Given the description of an element on the screen output the (x, y) to click on. 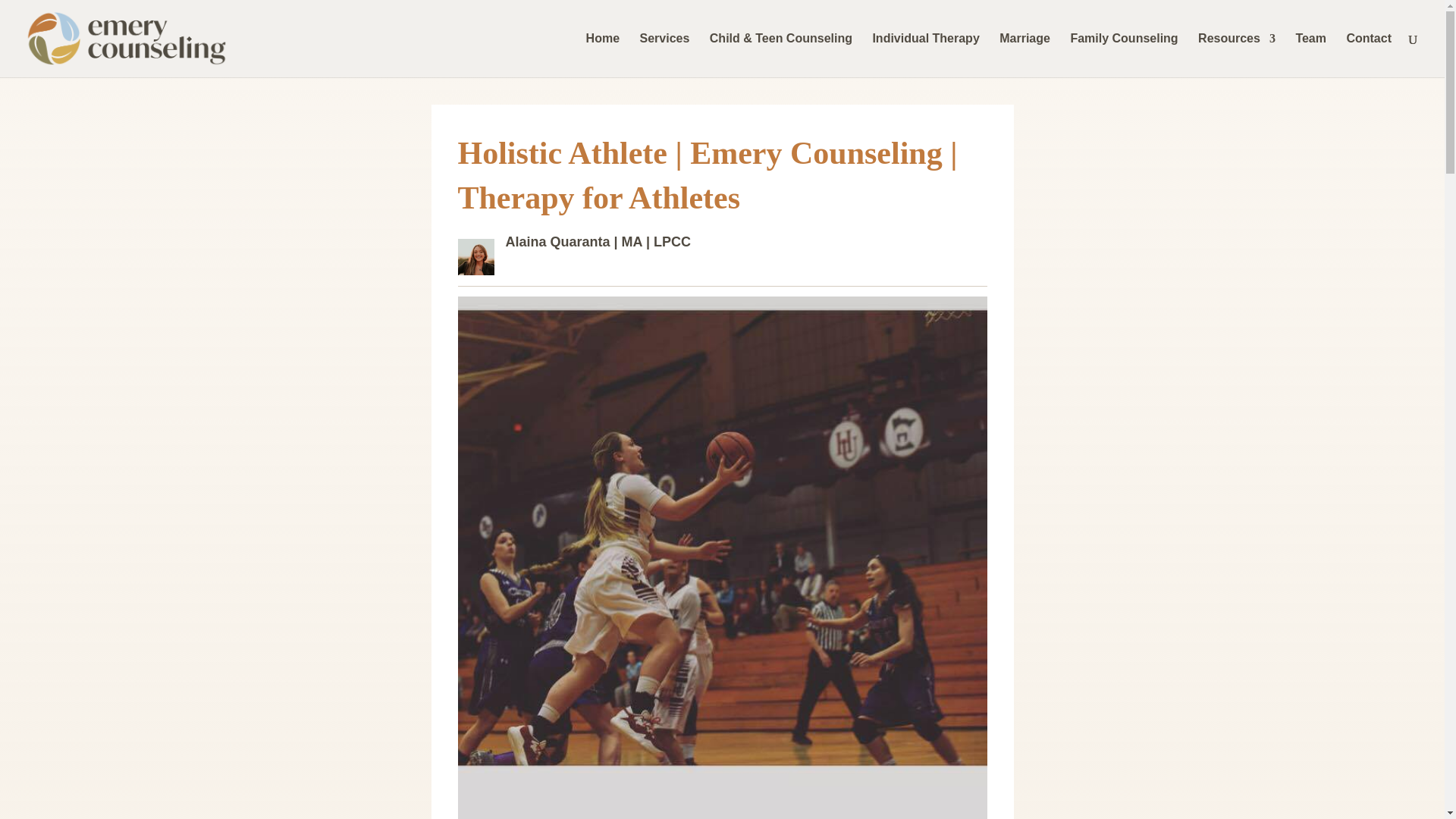
Family Counseling (1123, 54)
Individual Therapy (925, 54)
Contact (1368, 54)
Services (665, 54)
Marriage (1023, 54)
Resources (1236, 54)
